Given the description of an element on the screen output the (x, y) to click on. 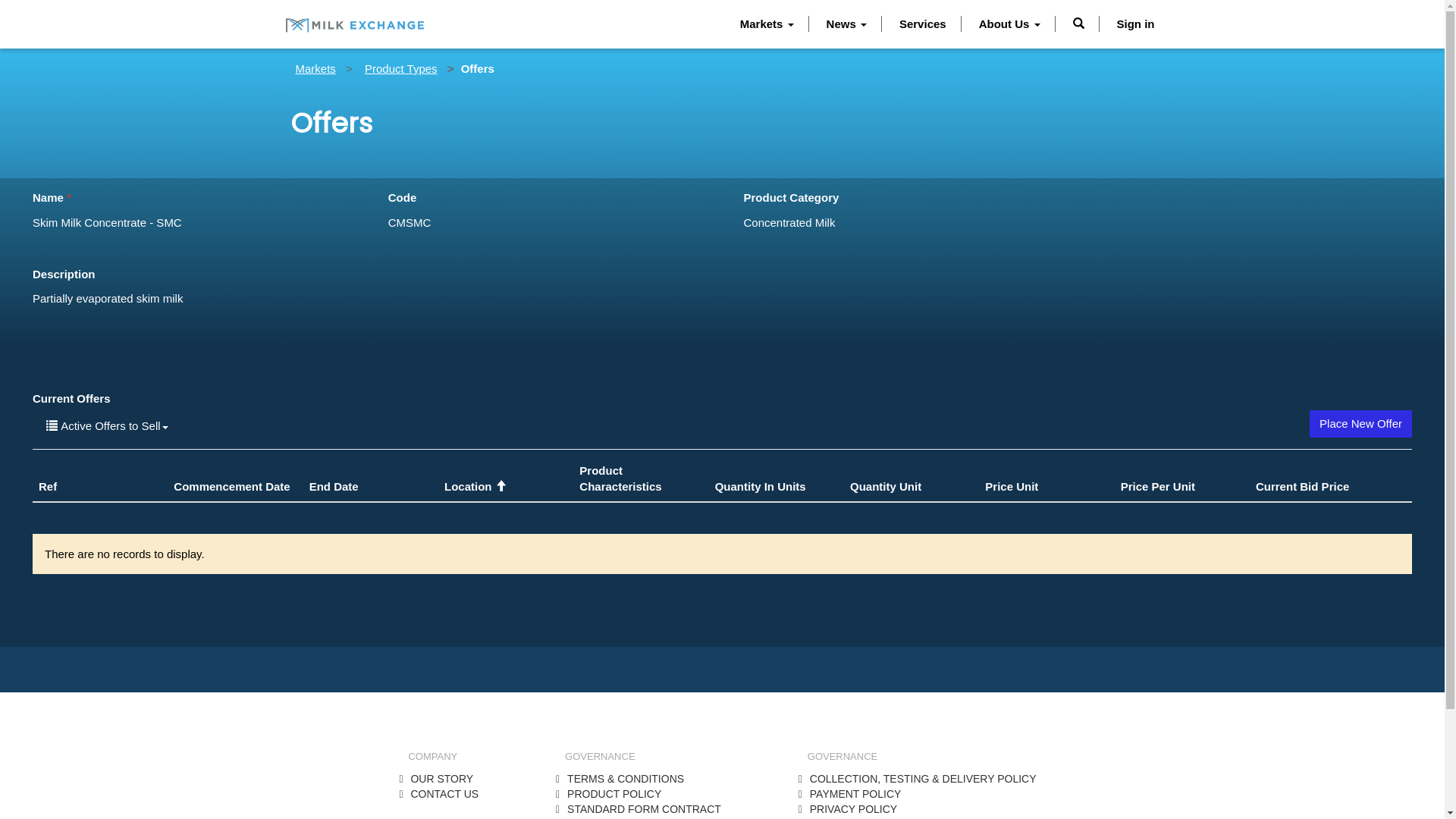
News Element type: text (846, 23)
PAYMENT POLICY Element type: text (855, 793)
End Date
. sort descending Element type: text (333, 486)
Place New Offer Element type: text (1360, 423)
Product Types Element type: text (400, 68)
PRODUCT POLICY Element type: text (614, 793)
OUR STORY Element type: text (441, 778)
Current Bid Price
. sort descending Element type: text (1302, 486)
CONTACT US Element type: text (444, 793)
COLLECTION, TESTING & DELIVERY POLICY Element type: text (922, 778)
TERMS & CONDITIONS Element type: text (625, 778)
STANDARD FORM CONTRACT Element type: text (644, 809)
PRIVACY POLICY Element type: text (853, 809)
Quantity Unit
. sort descending Element type: text (885, 486)
Markets Element type: text (315, 68)
Location
. sort ascending Element type: text (475, 486)
Sign in Element type: text (1135, 23)
Price Per Unit
. sort descending Element type: text (1157, 486)
Product Characteristics
. sort descending Element type: text (620, 478)
Price Unit
. sort descending Element type: text (1011, 486)
Commencement Date
. sort descending Element type: text (231, 486)
Markets Element type: text (766, 23)
Ref
. sort descending Element type: text (47, 486)
Services Element type: text (922, 23)
Search Element type: hover (1078, 23)
Name is a required field. Element type: hover (188, 222)
Active Offers to Sell Element type: text (106, 425)
Quantity In Units
. sort descending Element type: text (760, 486)
About Us Element type: text (1009, 23)
